Given the description of an element on the screen output the (x, y) to click on. 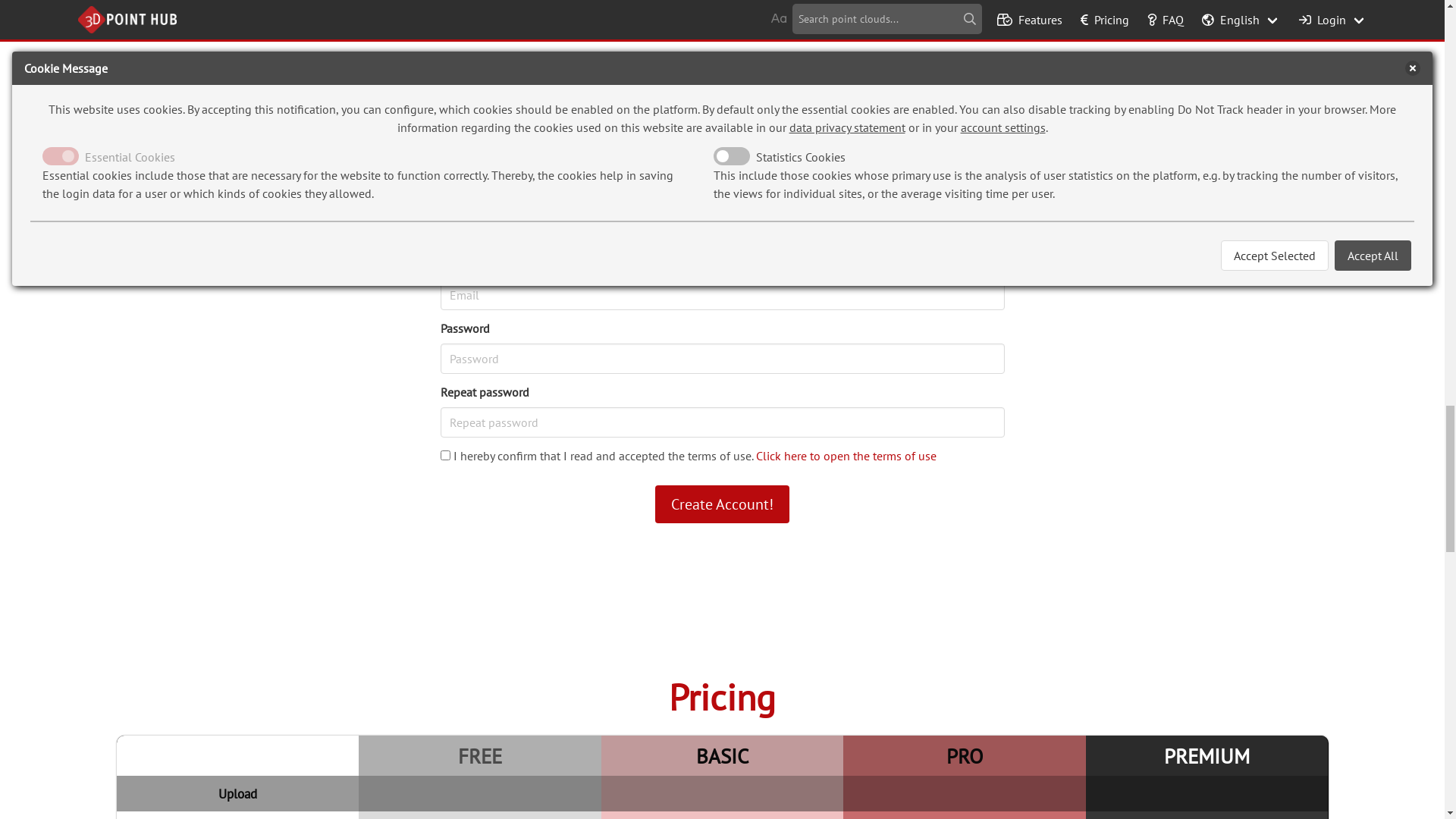
public point clouds Element type: text (792, 744)
